Given the description of an element on the screen output the (x, y) to click on. 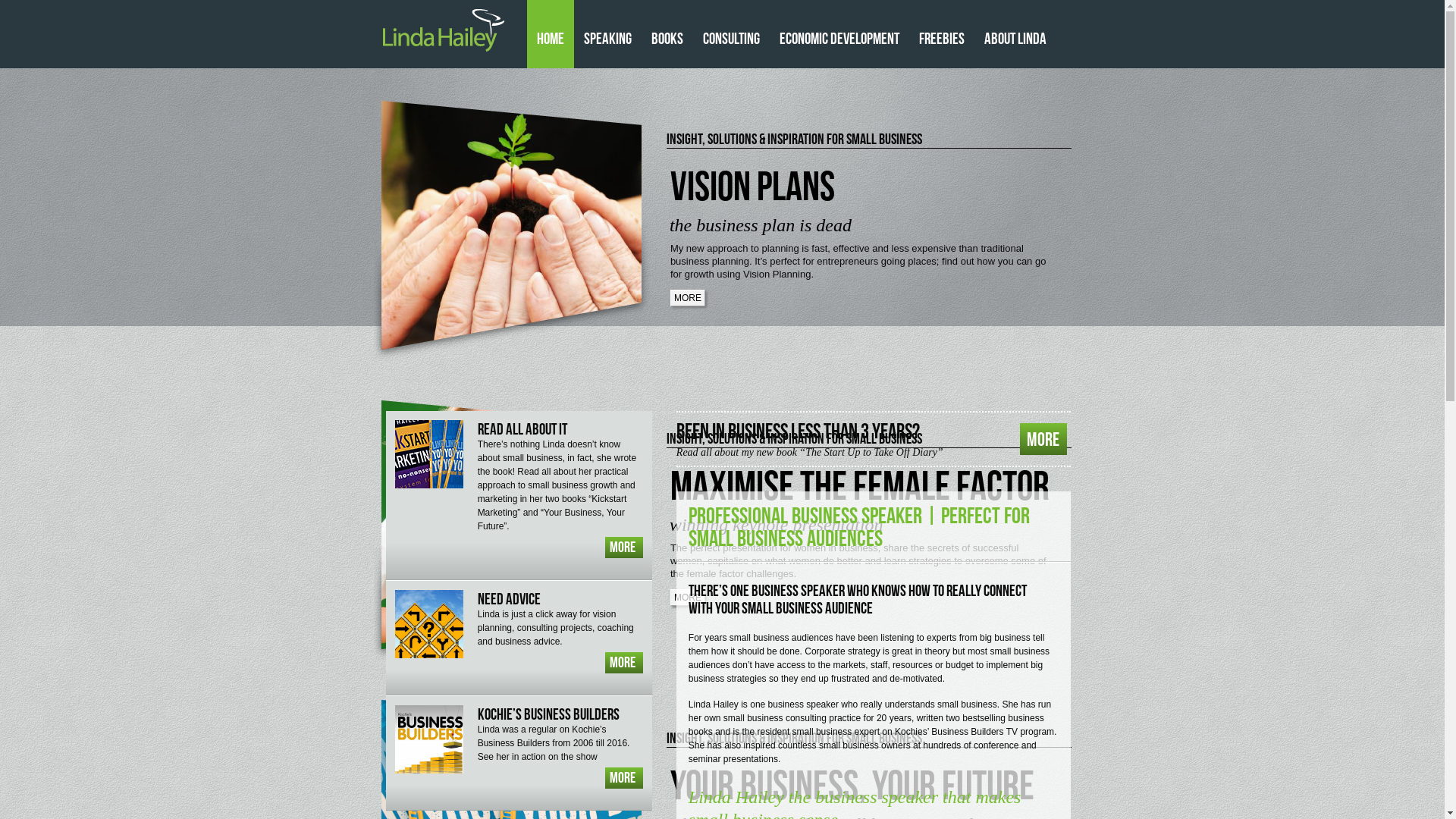
About Linda Element type: text (1014, 34)
Economic Development Element type: text (838, 34)
MORE Element type: text (687, 596)
Speaking Element type: text (606, 34)
Consulting Element type: text (731, 34)
Freebies Element type: text (940, 34)
MORE Element type: text (624, 777)
MORE Element type: text (624, 547)
MORE Element type: text (1042, 439)
Books Element type: text (667, 34)
Home Element type: text (549, 34)
MORE Element type: text (687, 297)
MORE Element type: text (624, 662)
